Given the description of an element on the screen output the (x, y) to click on. 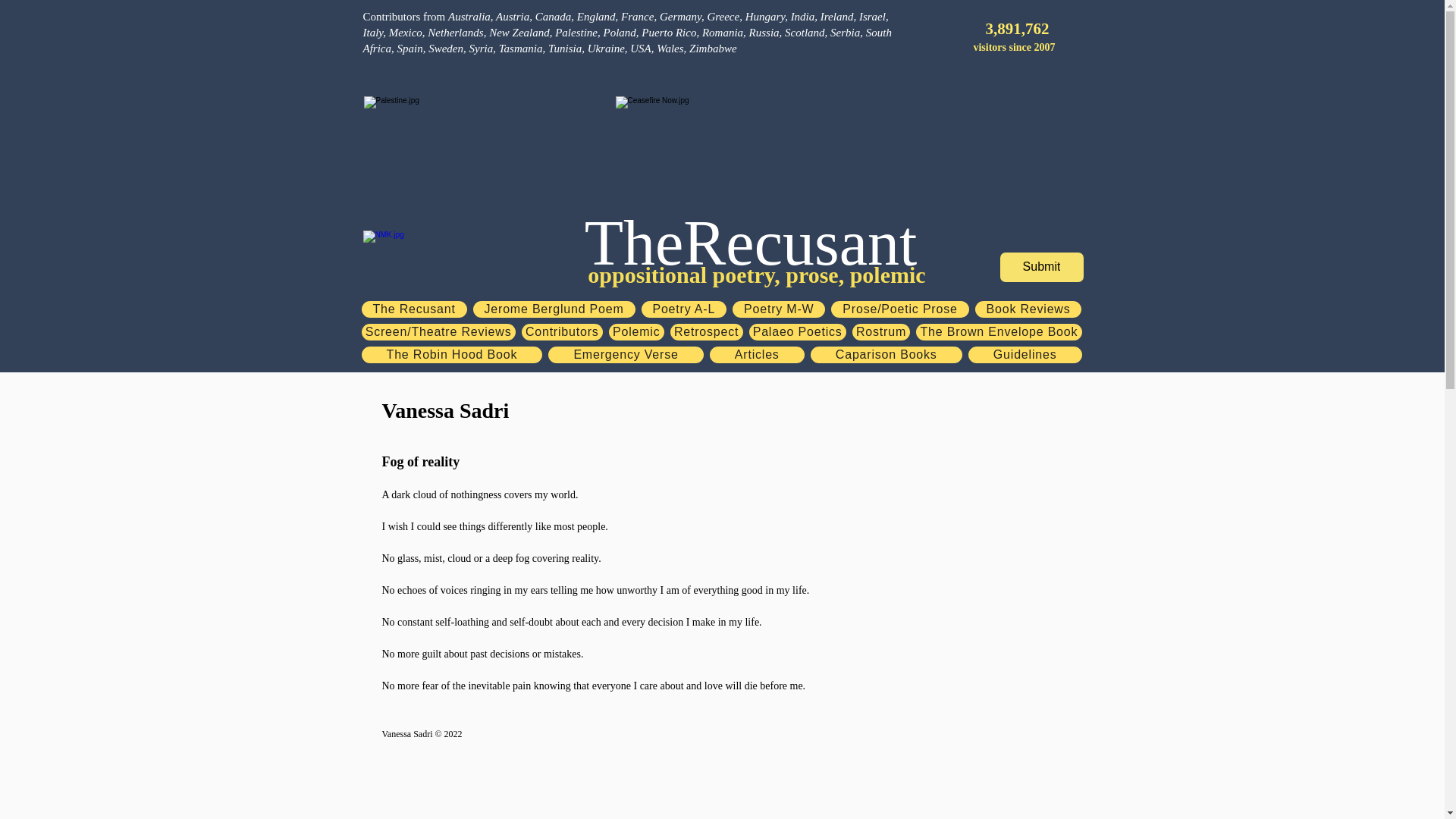
Poetry M-W (778, 309)
Book Reviews (1028, 309)
Emergency Verse (625, 354)
Submit (1040, 266)
The Brown Envelope Book (998, 331)
Articles (757, 354)
The Recusant (413, 309)
Polemic (635, 331)
Guidelines (1024, 354)
Jerome Berglund Poem (553, 309)
Retrospect (705, 331)
The Robin Hood Book (451, 354)
Contributors (561, 331)
Poetry A-L (684, 309)
Palaeo Poetics (797, 331)
